Given the description of an element on the screen output the (x, y) to click on. 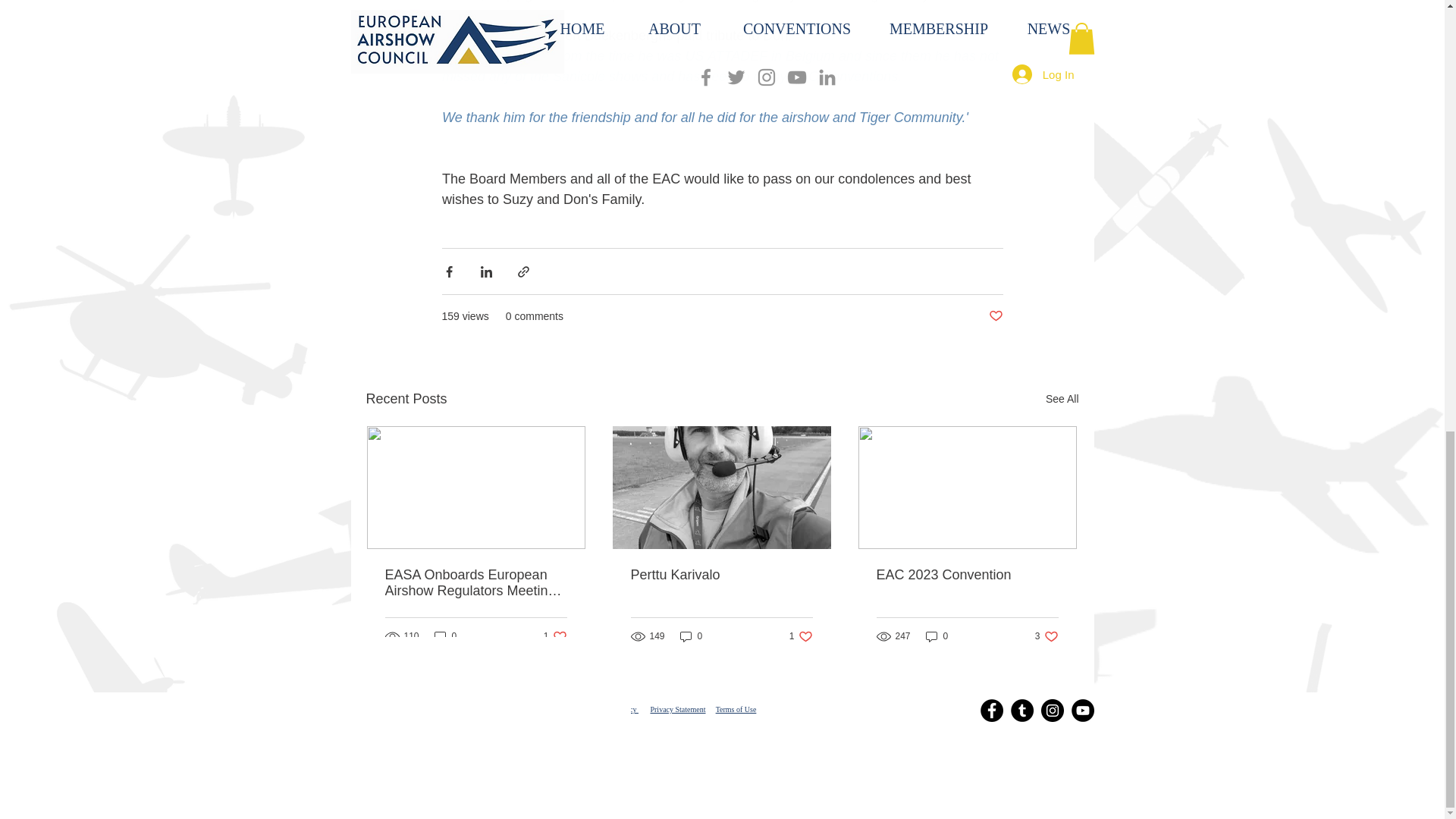
0 (800, 636)
Perttu Karivalo (691, 636)
EAC 2023 Convention (721, 575)
Post not marked as liked (967, 575)
See All (995, 316)
0 (1061, 399)
